Given the description of an element on the screen output the (x, y) to click on. 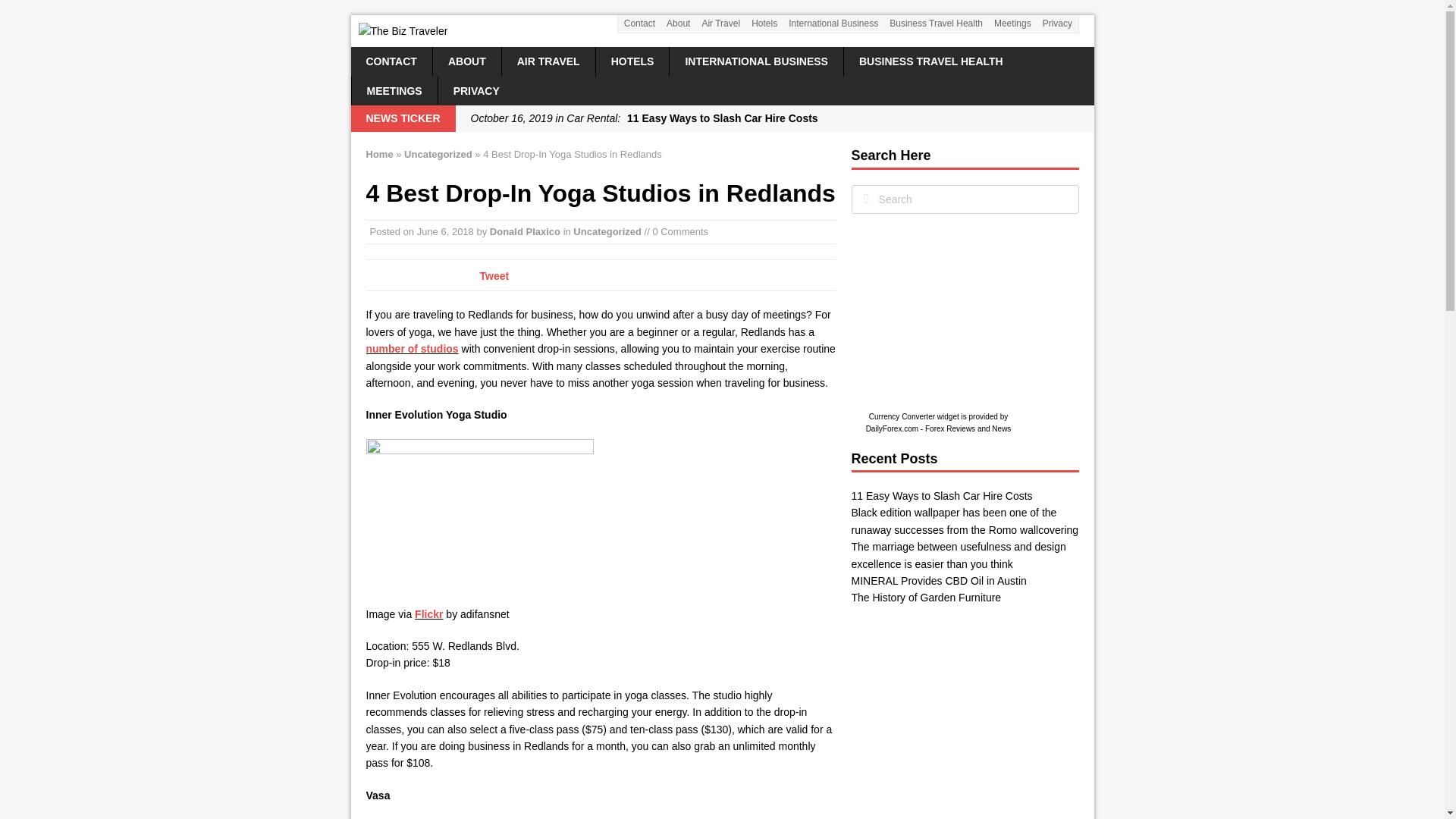
DailyForex.com (892, 429)
Home (379, 153)
Donald Plaxico (524, 231)
PRIVACY (476, 90)
AIR TRAVEL (548, 61)
The Biz Traveler (721, 30)
number of studios (411, 348)
11 Easy Ways to Slash Car Hire Costs (774, 118)
Meetings (1012, 23)
Uncategorized (437, 153)
ABOUT (466, 61)
Contact (639, 23)
BUSINESS TRAVEL HEALTH (930, 61)
Flickr (428, 613)
Business Travel Health (935, 23)
